Given the description of an element on the screen output the (x, y) to click on. 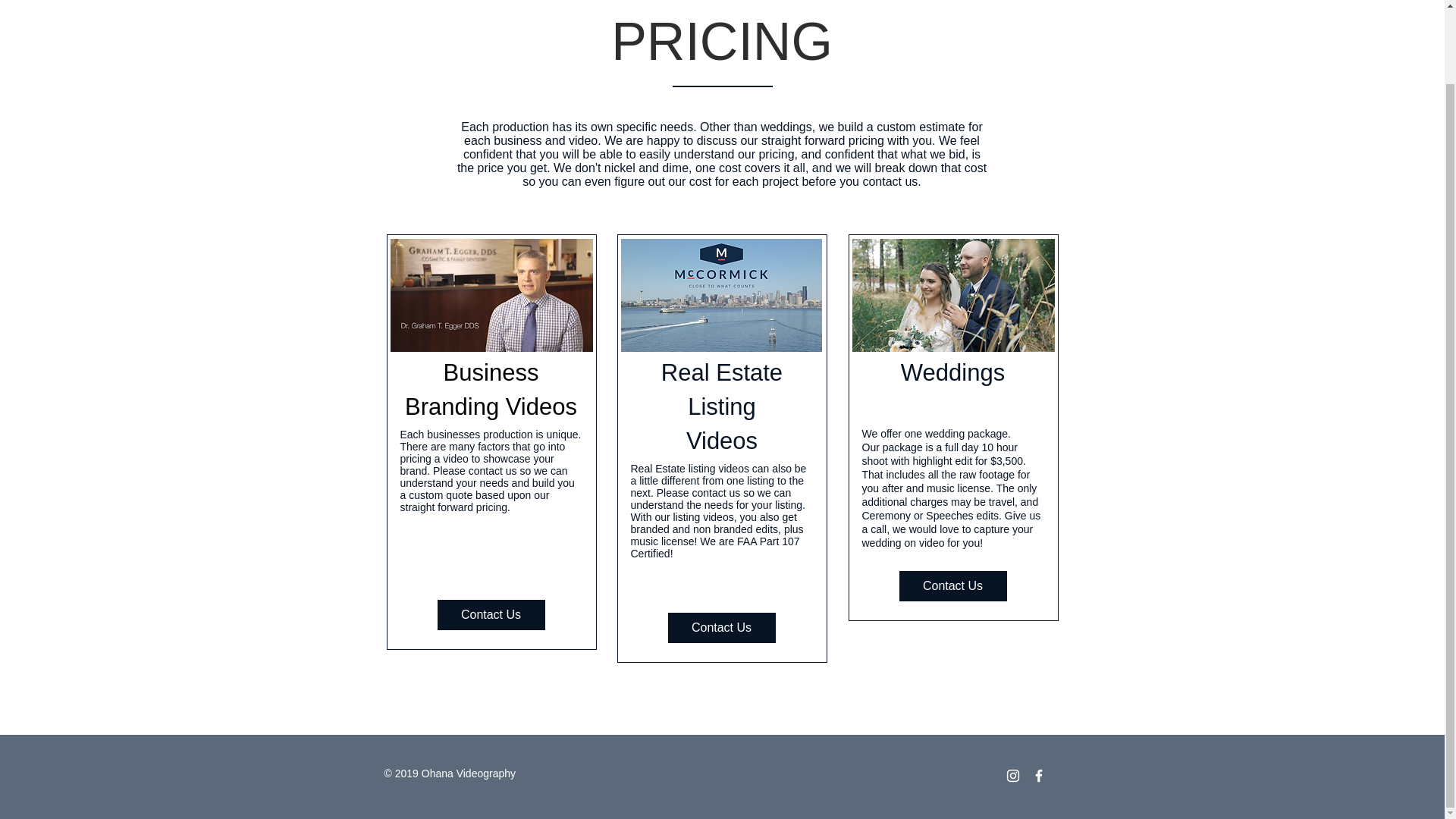
Contact Us (720, 627)
Contact Us (953, 585)
Contact Us (490, 614)
